Given the description of an element on the screen output the (x, y) to click on. 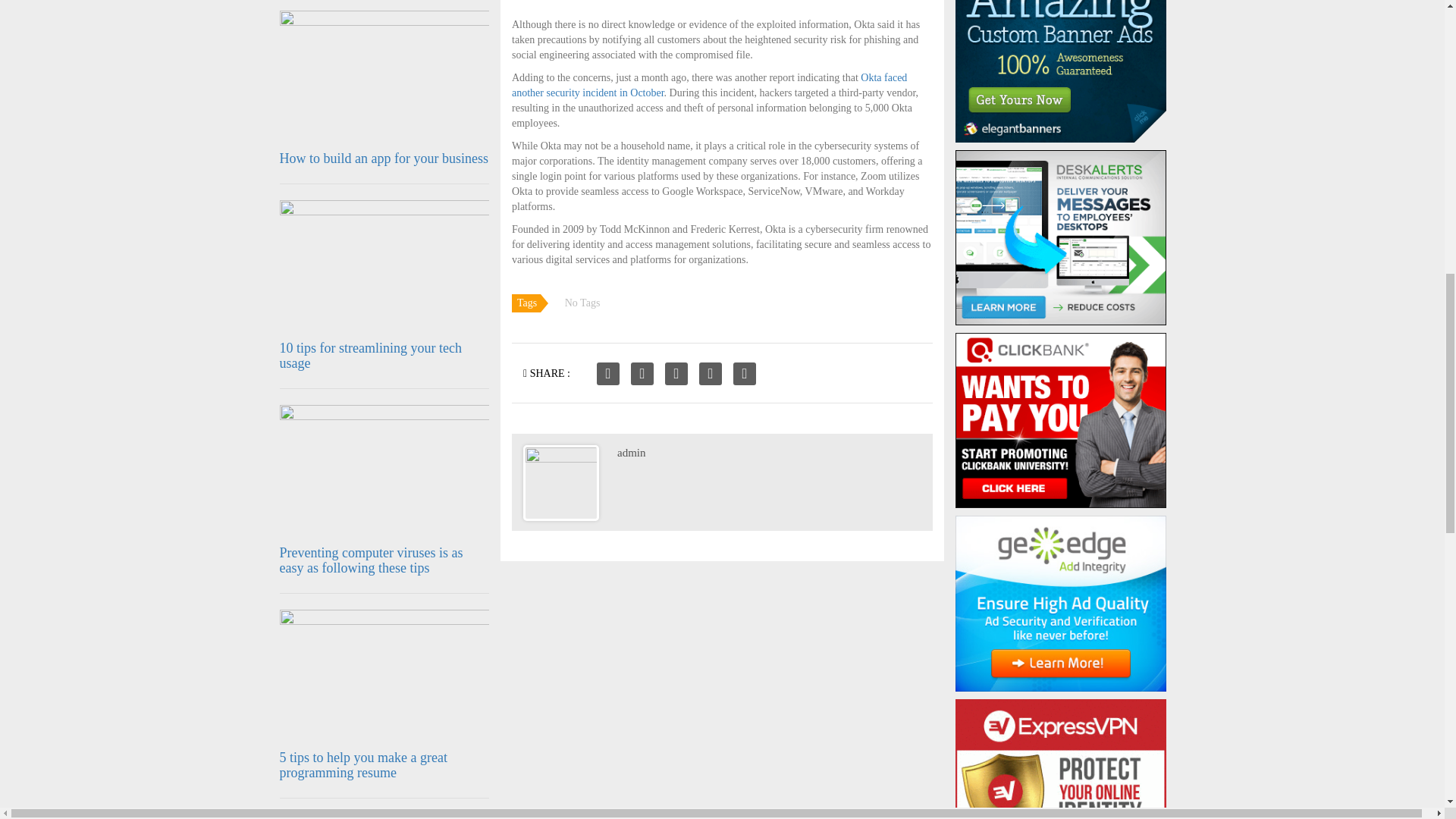
Share on Facebook (608, 373)
Posts by admin (631, 452)
